Given the description of an element on the screen output the (x, y) to click on. 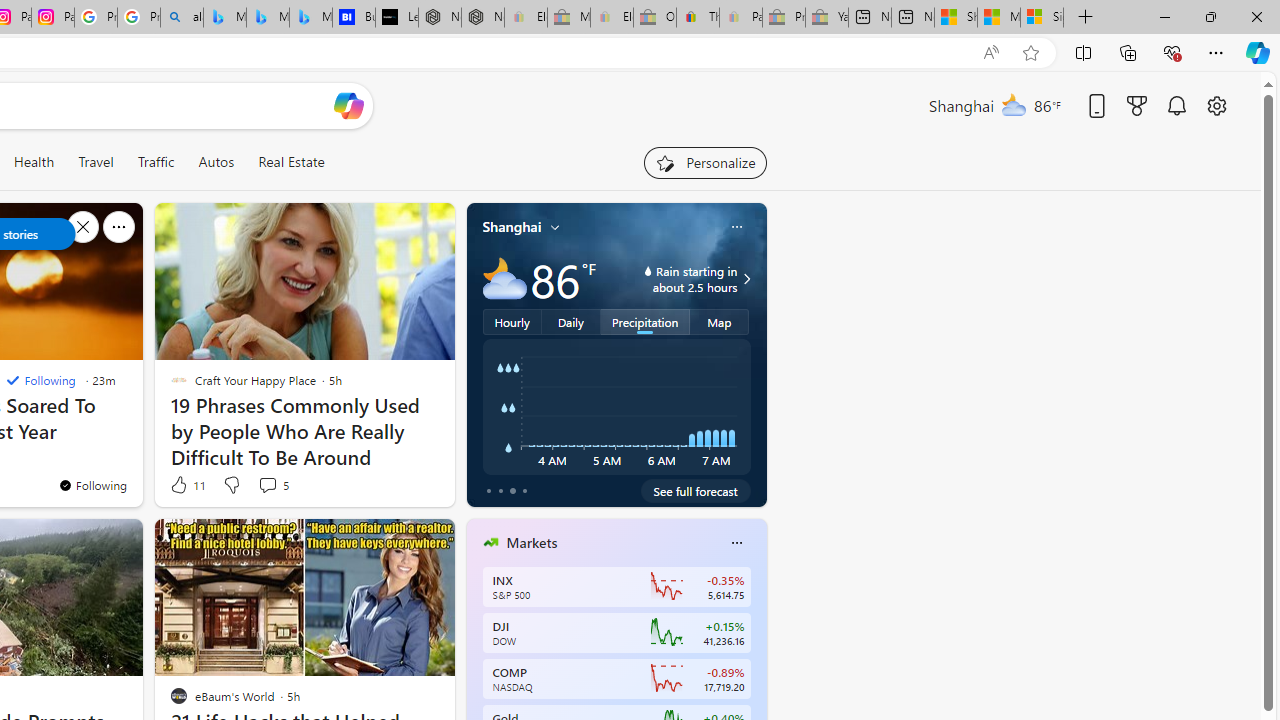
Shanghai (511, 227)
Open Copilot (347, 105)
New tab (913, 17)
Copilot (Ctrl+Shift+.) (1258, 52)
Traffic (155, 161)
Autos (215, 161)
Mostly cloudy (504, 278)
Health (33, 162)
tab-0 (488, 490)
Press Room - eBay Inc. - Sleeping (783, 17)
Travel (95, 161)
11 Like (186, 484)
